Given the description of an element on the screen output the (x, y) to click on. 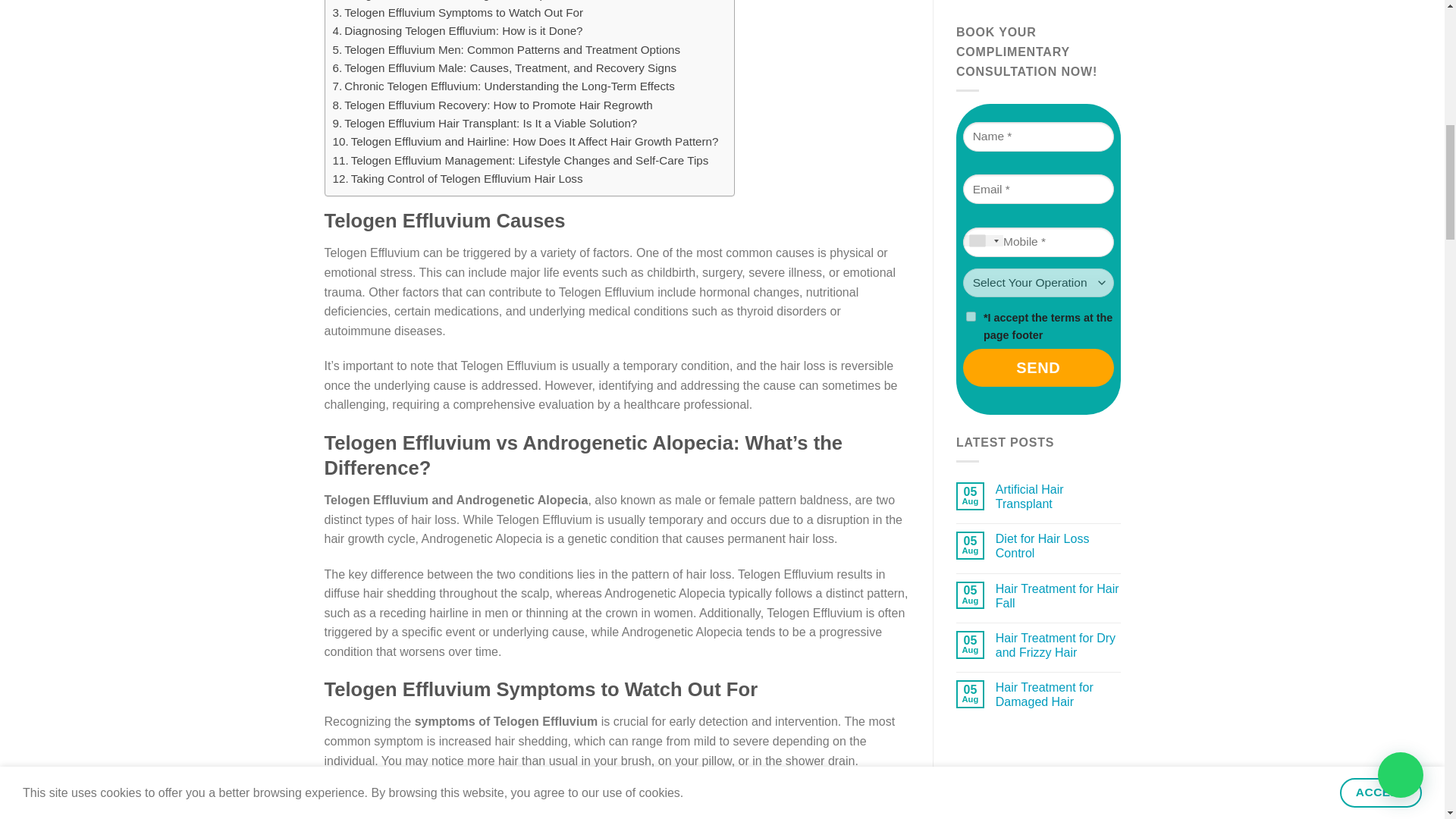
Telogen Effluvium Men: Common Patterns and Treatment Options (505, 49)
Diagnosing Telogen Effluvium: How is it Done? (456, 31)
Telogen Effluvium Symptoms to Watch Out For (457, 13)
